Given the description of an element on the screen output the (x, y) to click on. 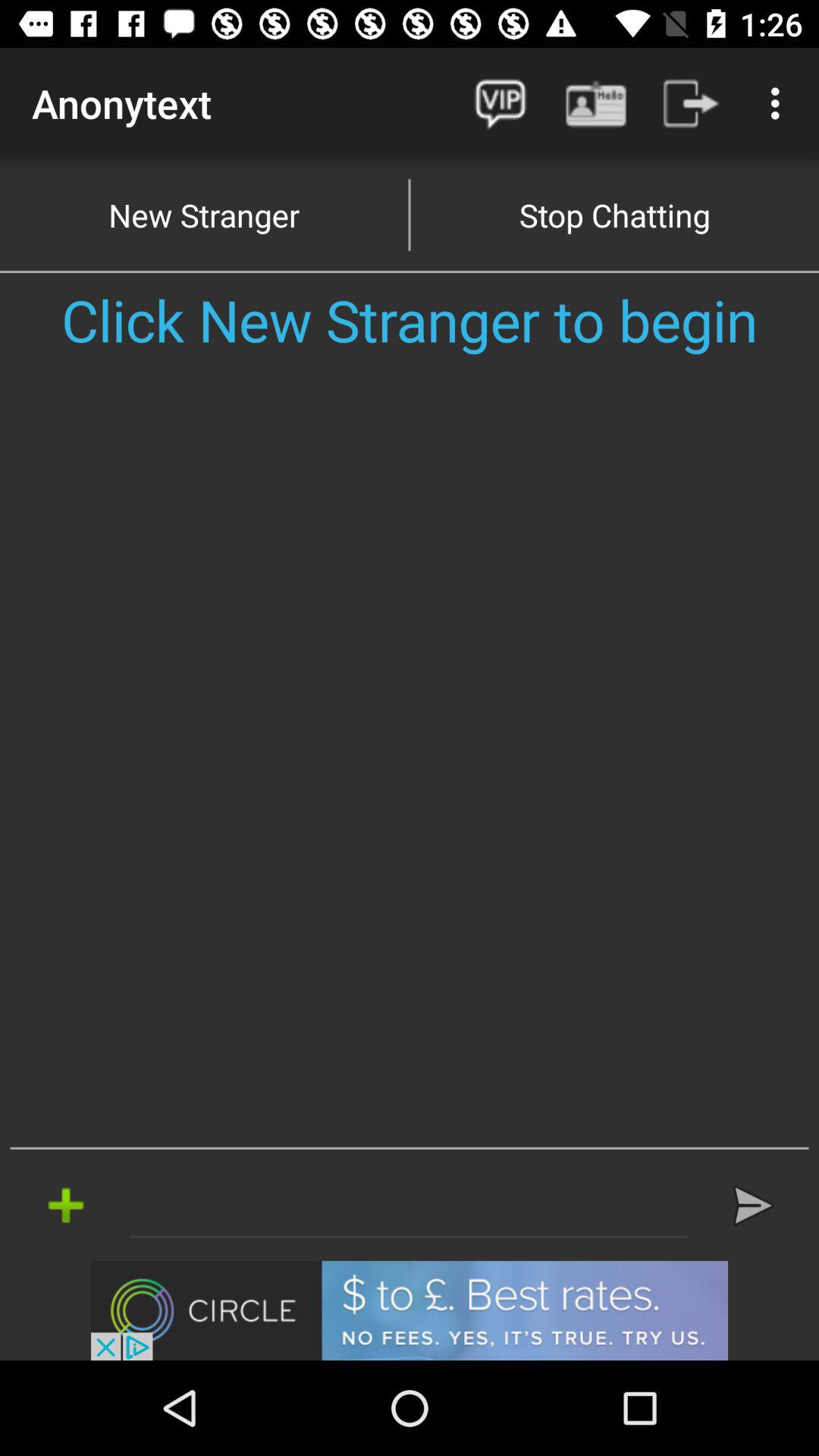
advertisement banner (409, 1310)
